Given the description of an element on the screen output the (x, y) to click on. 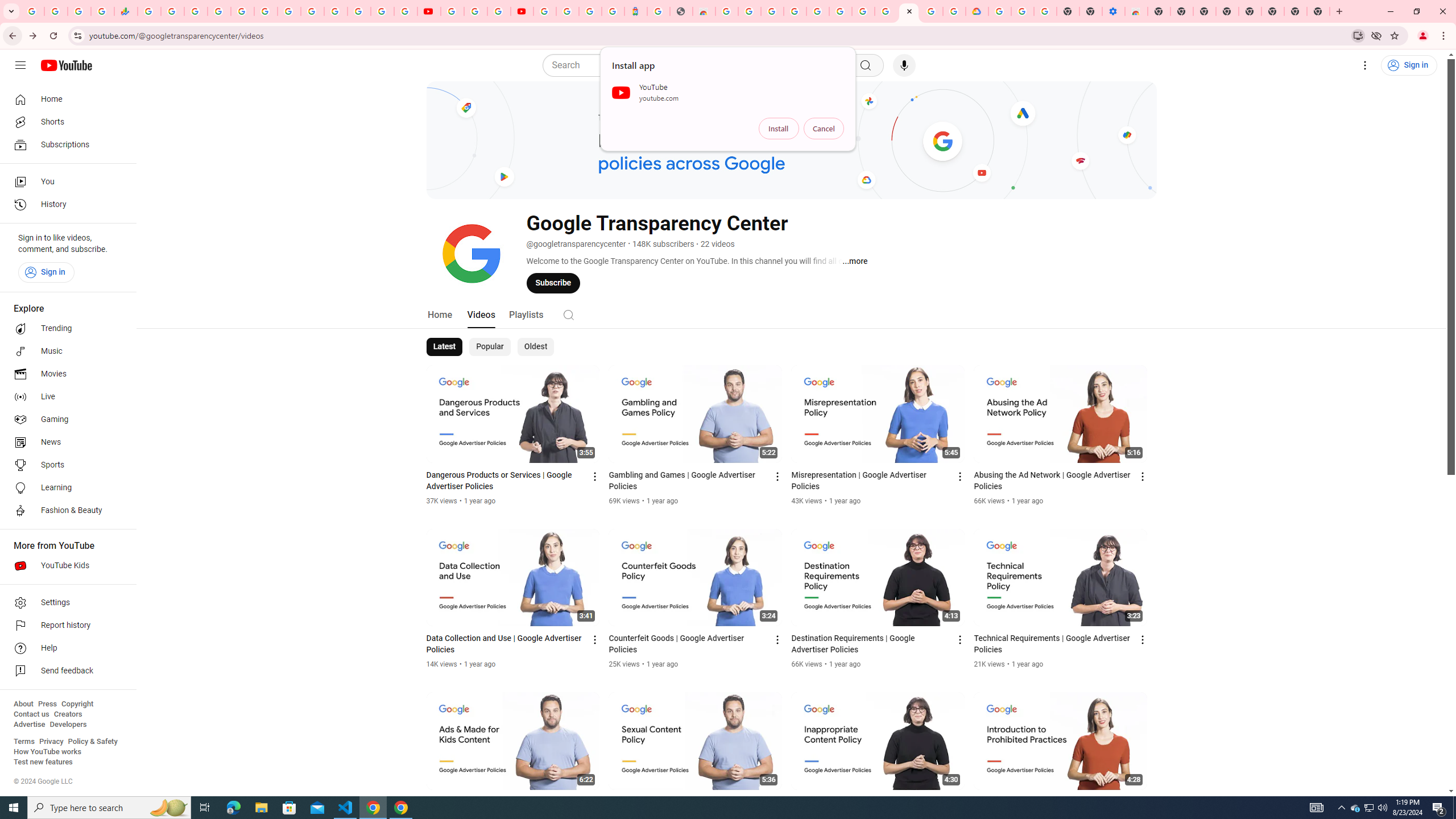
Send feedback (64, 671)
Subscribe (552, 282)
Trending (64, 328)
Sports (64, 464)
Guide (20, 65)
Live (64, 396)
New Tab (1158, 11)
Third-party cookies blocked (1376, 35)
Search with your voice (903, 65)
YouTube (312, 11)
